Given the description of an element on the screen output the (x, y) to click on. 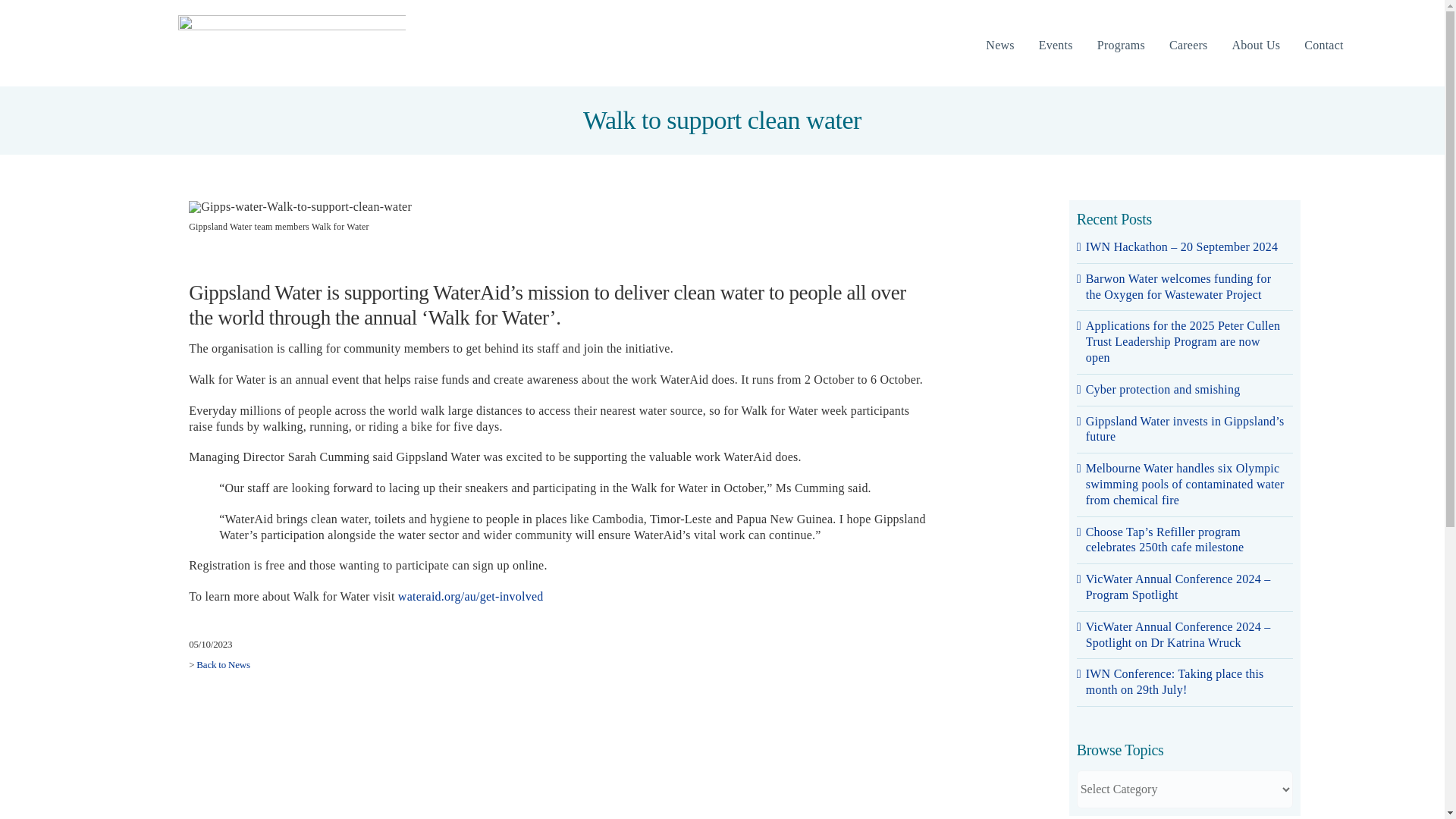
IWN Conference: Taking place this month on 29th July! (1174, 681)
Careers (1188, 45)
Back to News (223, 664)
Events (1056, 45)
Gippsland Water team members Walk for Water (588, 223)
Programs (1120, 45)
News (999, 45)
About Us (1256, 45)
